Given the description of an element on the screen output the (x, y) to click on. 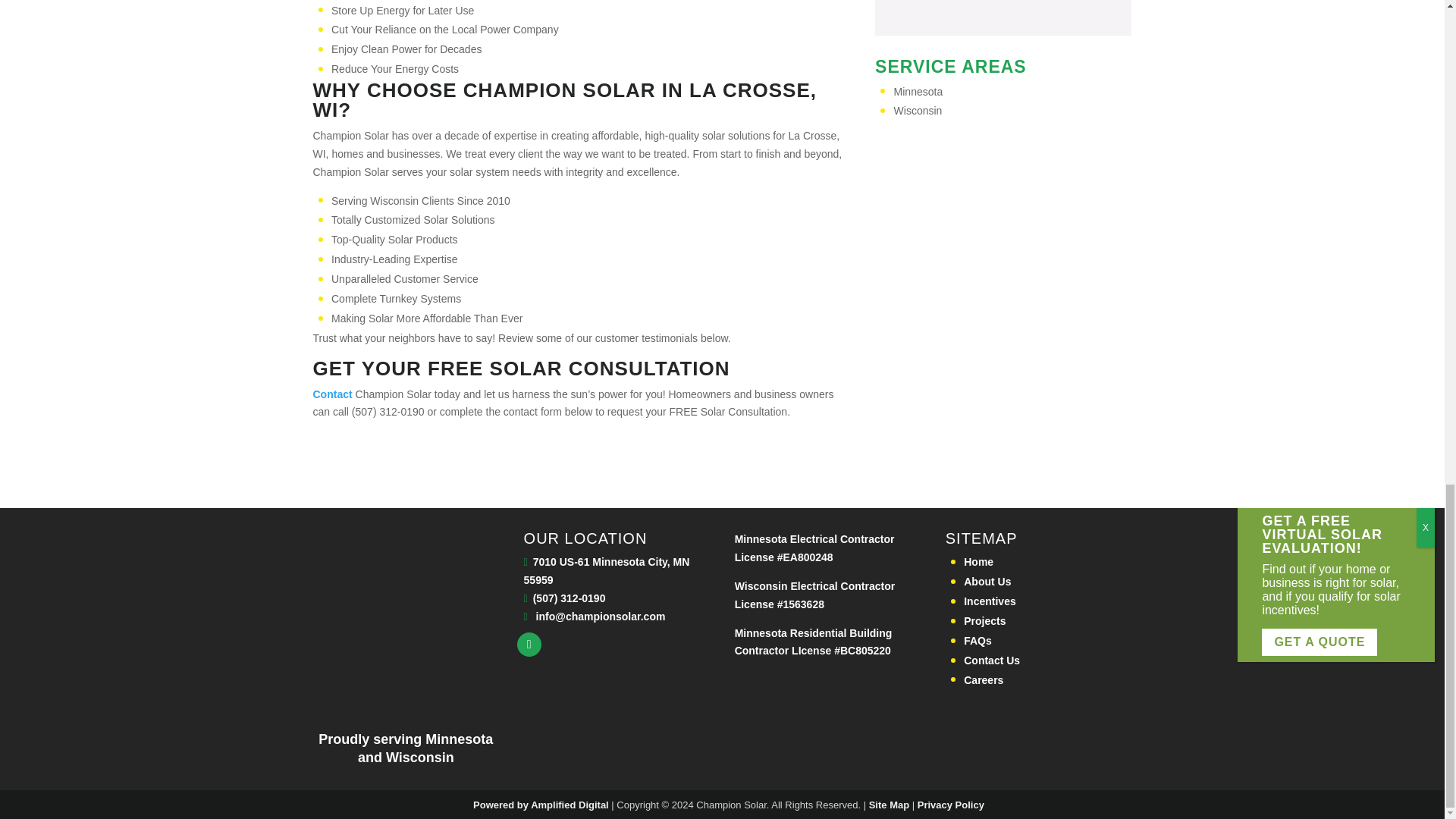
Contact (332, 394)
7010 US-61 Minnesota City, MN 55959 (607, 571)
Follow on Facebook (528, 644)
